Given the description of an element on the screen output the (x, y) to click on. 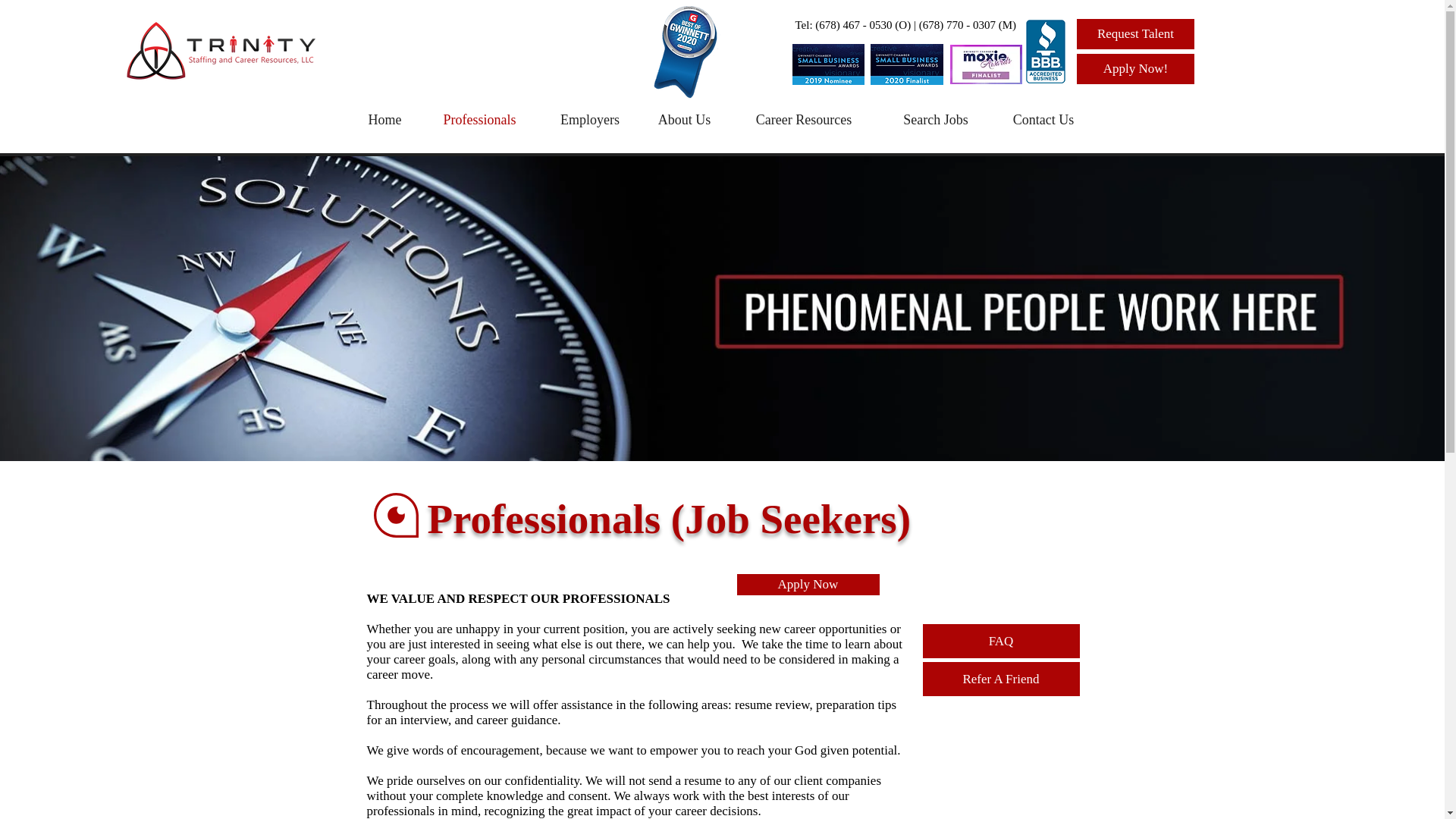
BOG2020-Print-RibbonSquare-3x3.png (683, 51)
Apply Now! (1135, 69)
About Us (684, 119)
Contact Us (1043, 119)
Home (384, 119)
Apply Now (807, 584)
Refer A Friend (999, 678)
Career Resources (804, 119)
Request Talent (1135, 33)
Employers (589, 119)
